Given the description of an element on the screen output the (x, y) to click on. 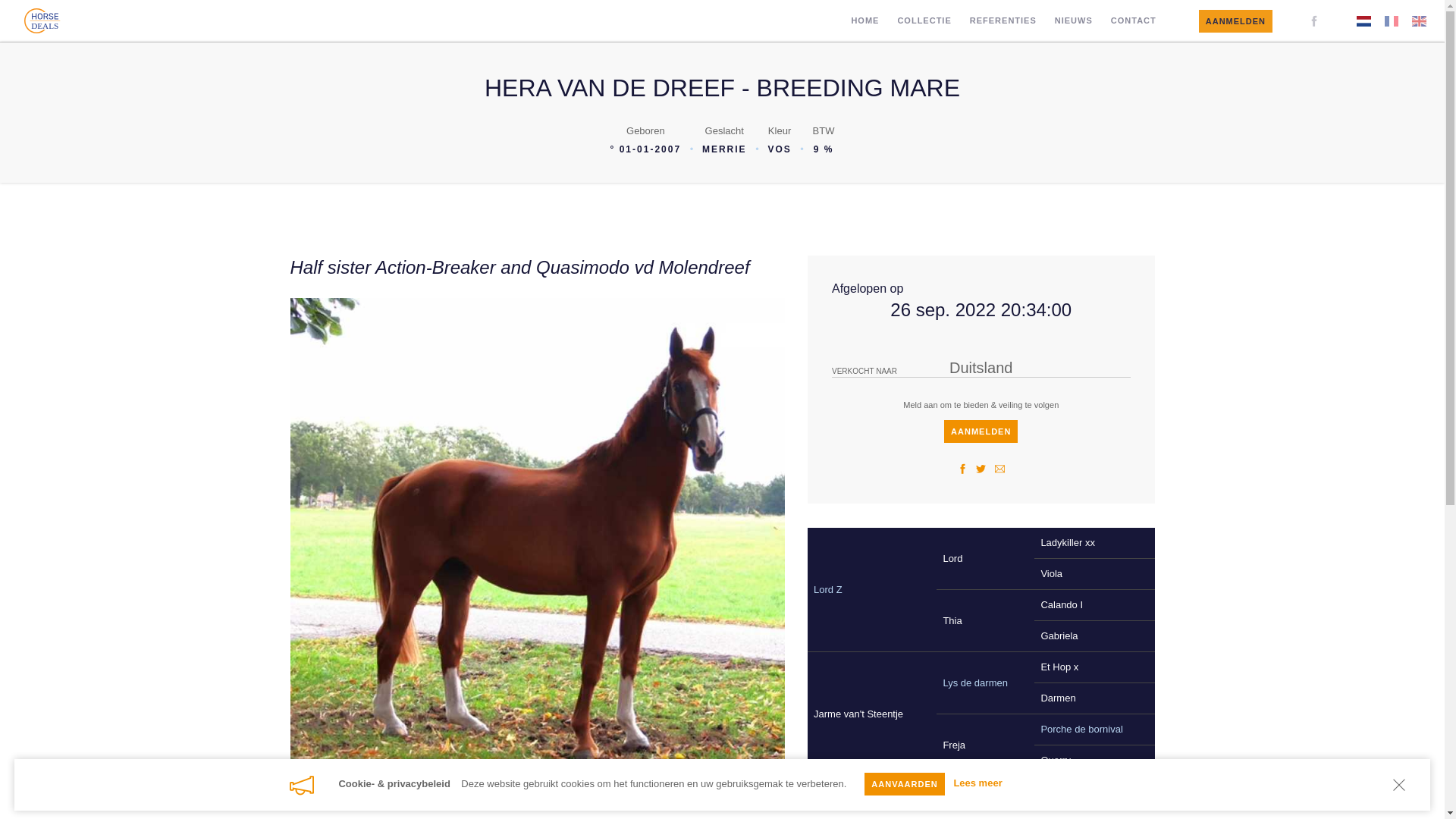
Lees meer Element type: text (977, 783)
AANMELDEN Element type: text (1235, 20)
CONTACT Element type: text (1133, 21)
REFERENTIES Element type: text (1002, 21)
COLLECTIE Element type: text (923, 21)
AANVAARDEN Element type: text (904, 783)
HOME Element type: text (864, 21)
AANMELDEN Element type: text (980, 431)
NIEUWS Element type: text (1073, 21)
